Given the description of an element on the screen output the (x, y) to click on. 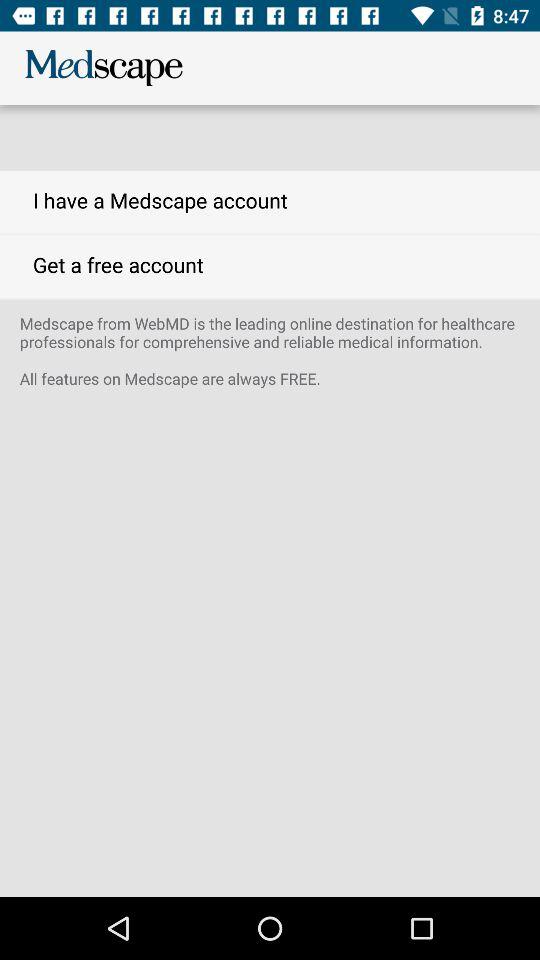
press the get a free (270, 266)
